Given the description of an element on the screen output the (x, y) to click on. 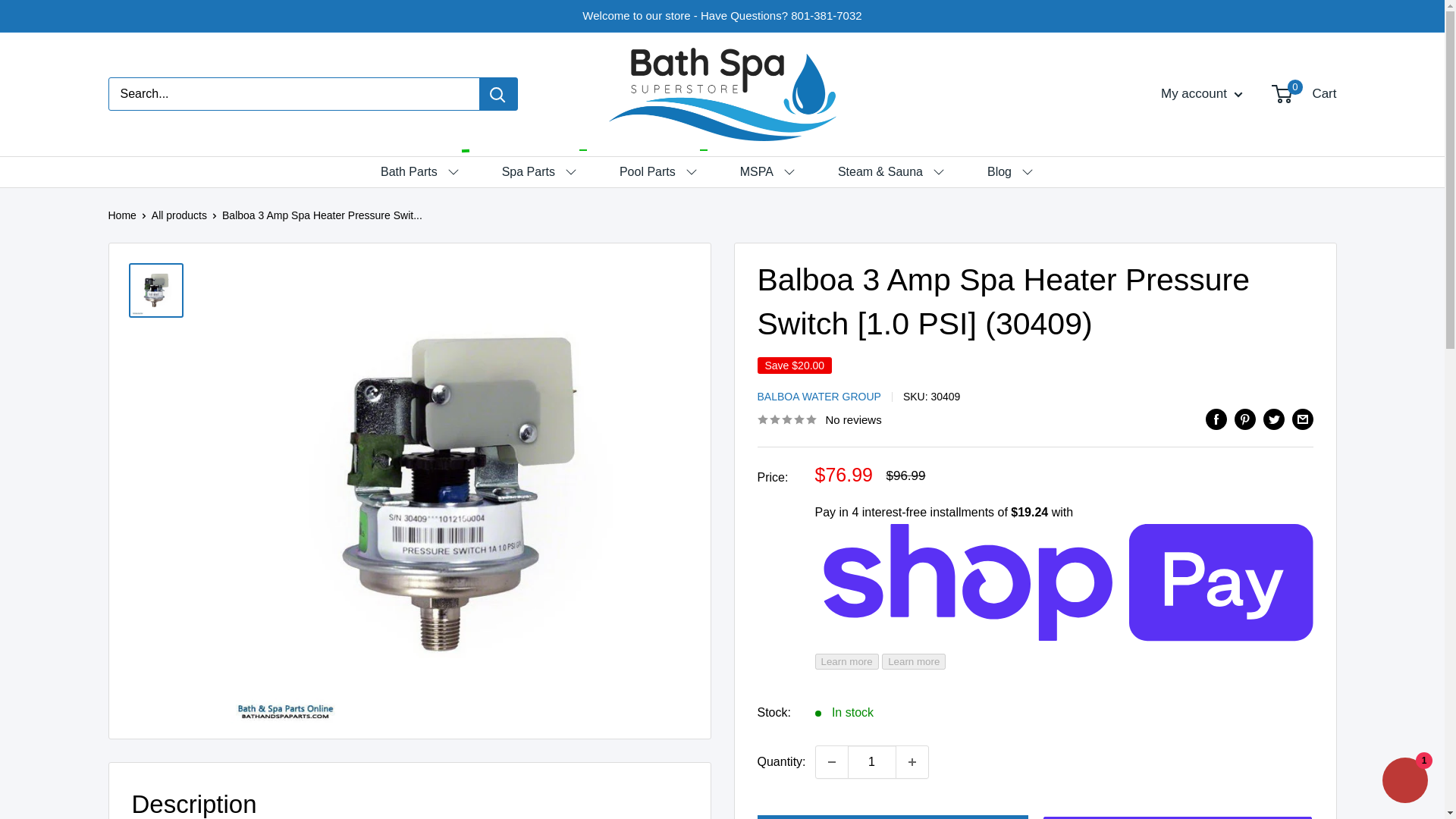
1 (871, 762)
Decrease quantity by 1 (831, 762)
Increase quantity by 1 (912, 762)
Shopify online store chat (1404, 781)
